Given the description of an element on the screen output the (x, y) to click on. 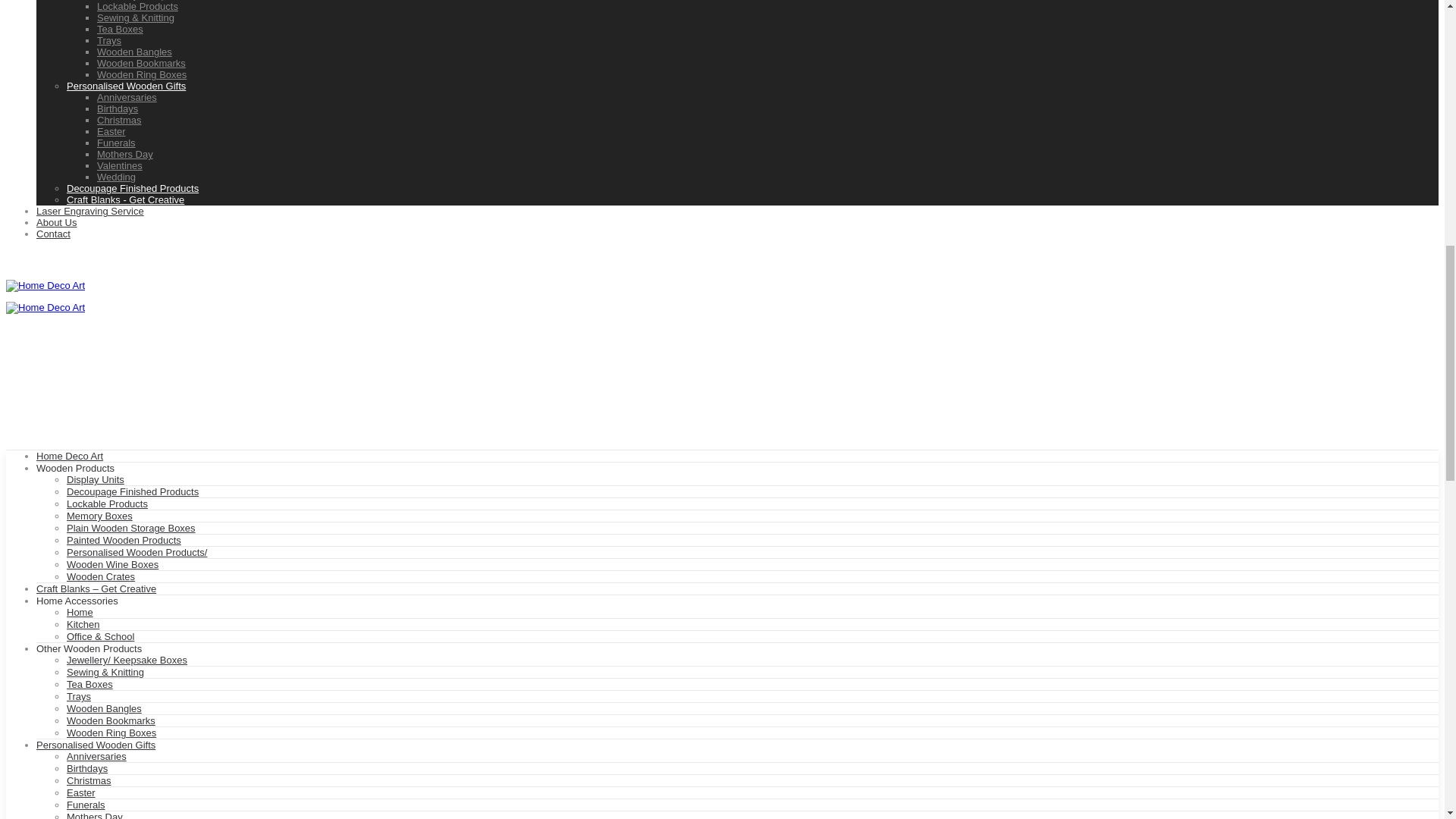
Tea Boxes (119, 29)
Wooden Bangles (134, 51)
Wooden Ring Boxes (141, 74)
Lockable Products (137, 6)
Wooden Bookmarks (141, 62)
Personalised Wooden Gifts (126, 85)
Trays (108, 40)
